Given the description of an element on the screen output the (x, y) to click on. 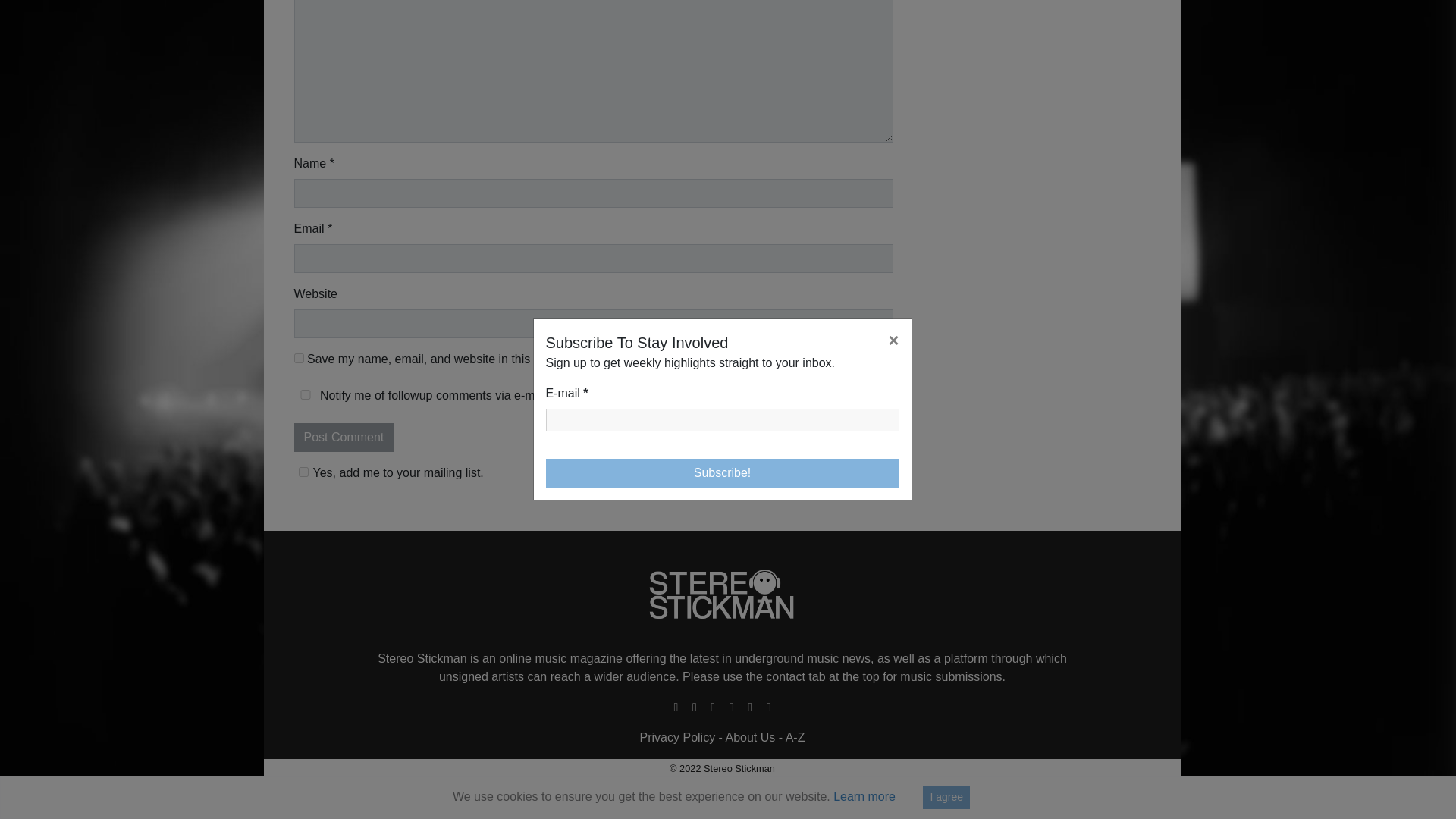
Post Comment (344, 437)
